Given the description of an element on the screen output the (x, y) to click on. 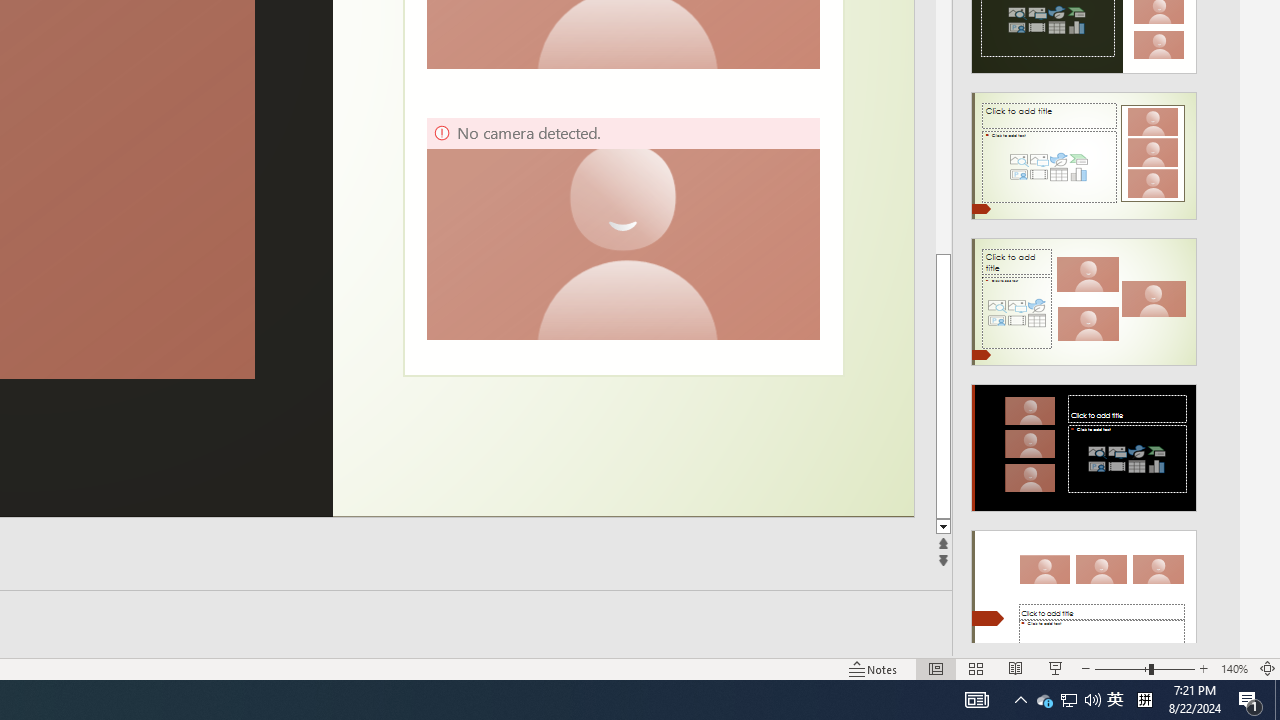
Zoom 140% (1234, 668)
Camera 4, No camera detected. (622, 228)
